Given the description of an element on the screen output the (x, y) to click on. 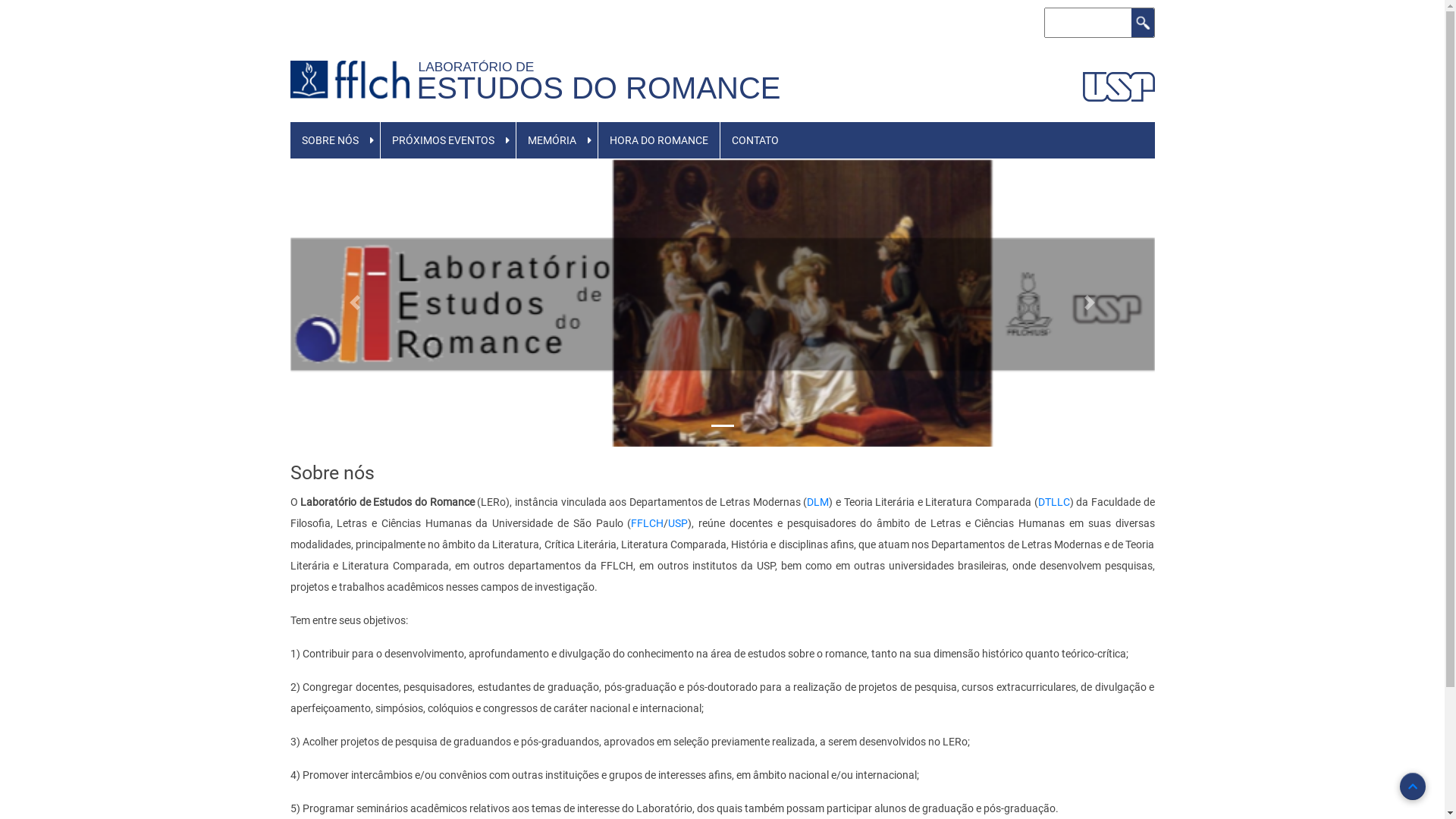
ESTUDOS DO ROMANCE Element type: text (599, 87)
DLM Element type: text (817, 501)
HORA DO ROMANCE Element type: text (658, 140)
FFLCH Element type: text (646, 523)
DTLLC Element type: text (1054, 501)
Next Element type: text (1089, 302)
Back to Top Element type: hover (1412, 786)
Previous Element type: text (354, 302)
CONTATO Element type: text (755, 140)
Buscar Element type: text (1142, 22)
USP Element type: text (677, 523)
